Given the description of an element on the screen output the (x, y) to click on. 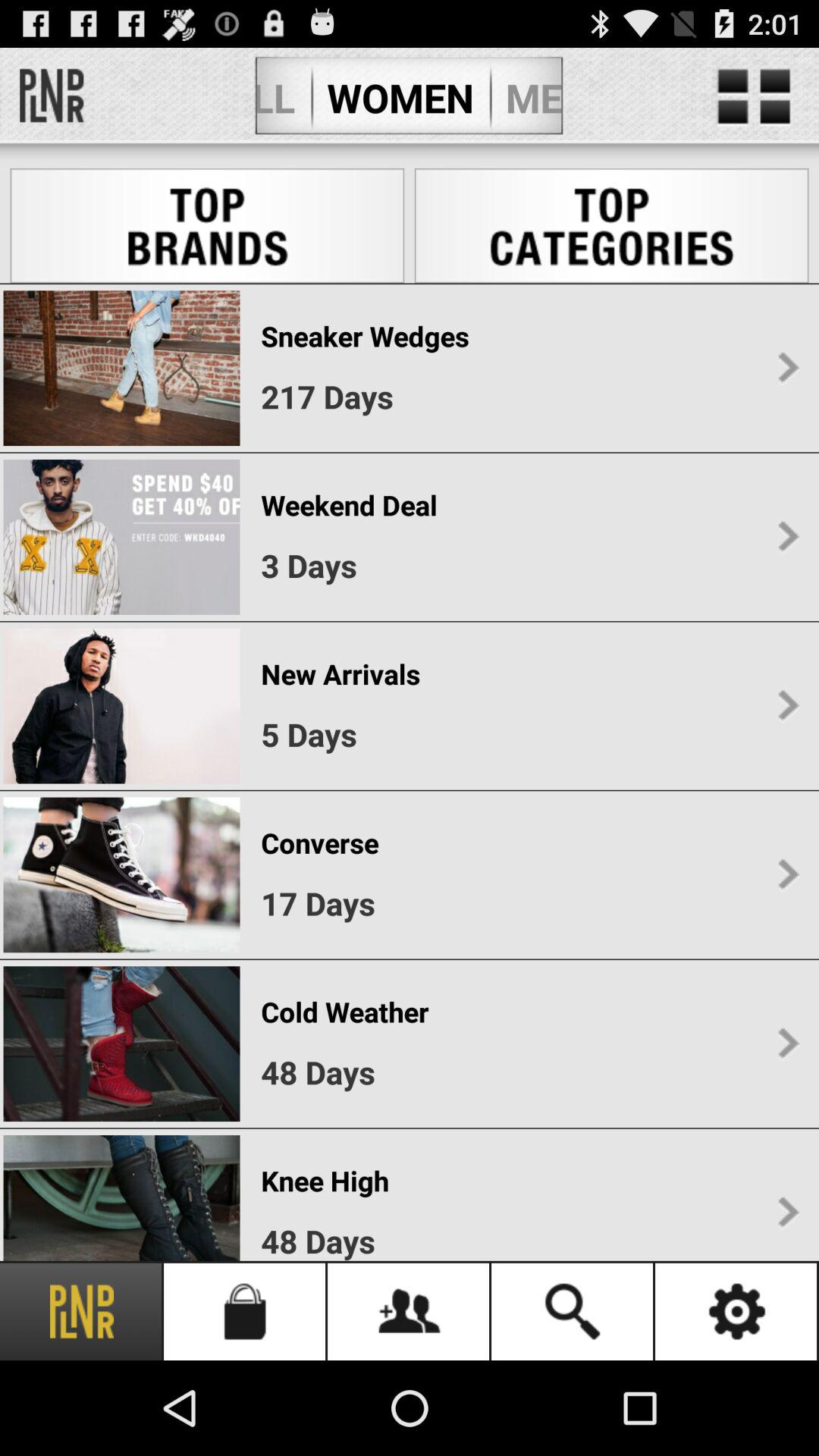
click on the fourth image in the page (121, 874)
click on the third image under top brands (121, 706)
click on the last dropdown button (788, 1212)
click on the second arrow button in the page (788, 536)
